Given the description of an element on the screen output the (x, y) to click on. 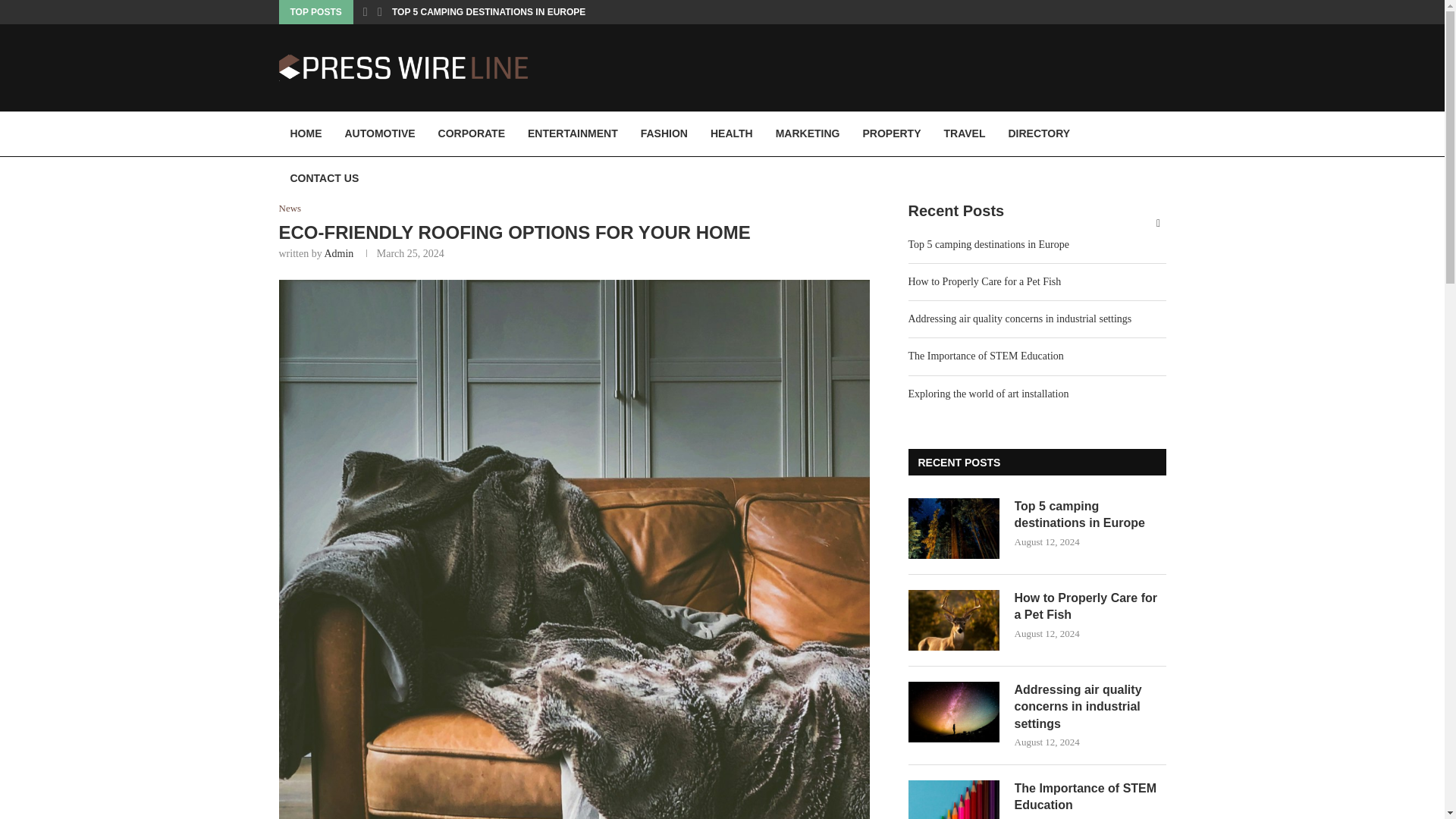
Admin (338, 253)
AUTOMOTIVE (379, 134)
HEALTH (731, 134)
PROPERTY (890, 134)
ENTERTAINMENT (572, 134)
HOME (306, 134)
MARKETING (807, 134)
CONTACT US (325, 178)
CORPORATE (471, 134)
